Given the description of an element on the screen output the (x, y) to click on. 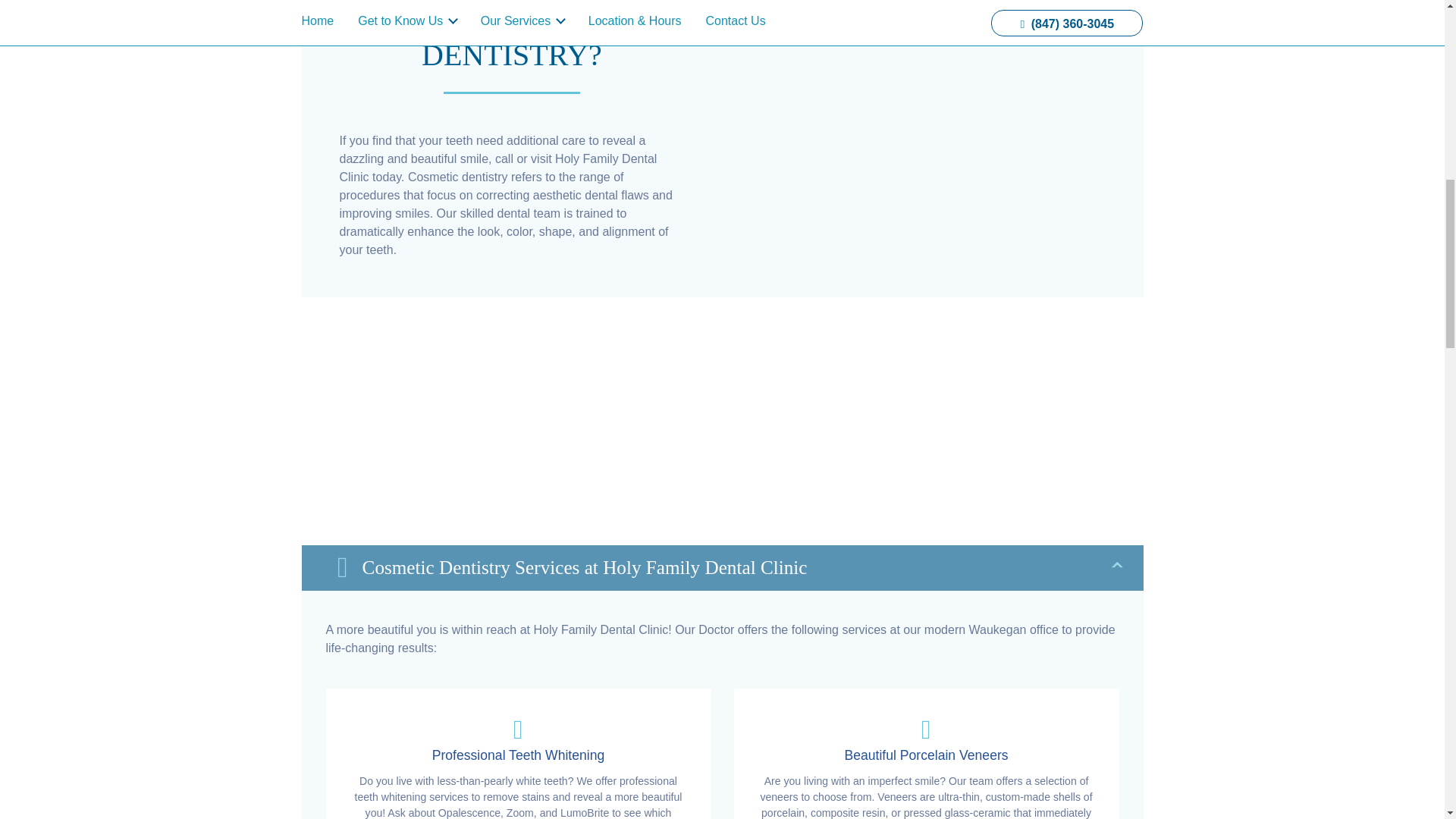
Cosmetic Dentistry Services at Holy Family Dental Clinic (721, 567)
